Given the description of an element on the screen output the (x, y) to click on. 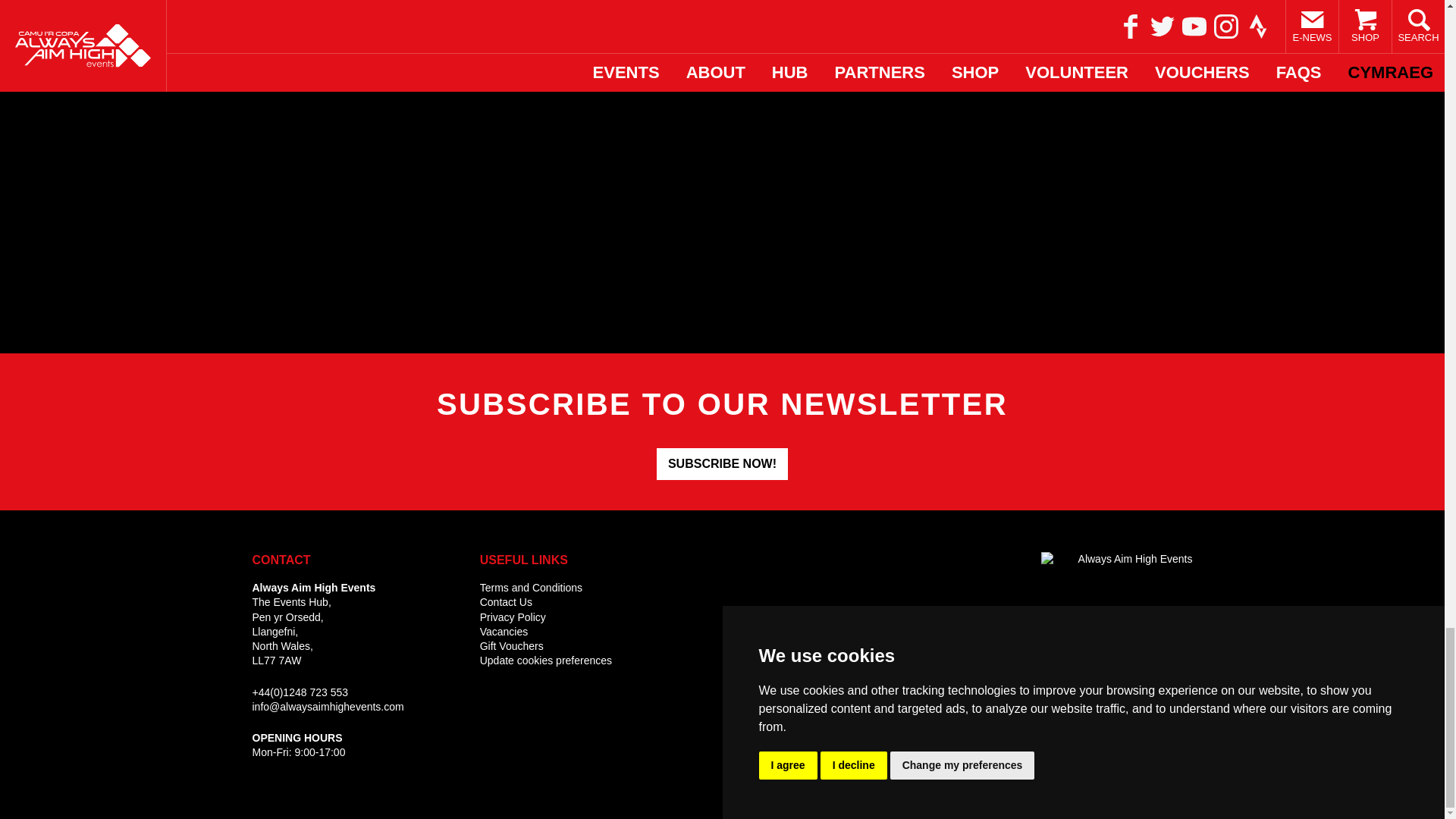
Digital Marketing, brand design and web development (1147, 718)
